Given the description of an element on the screen output the (x, y) to click on. 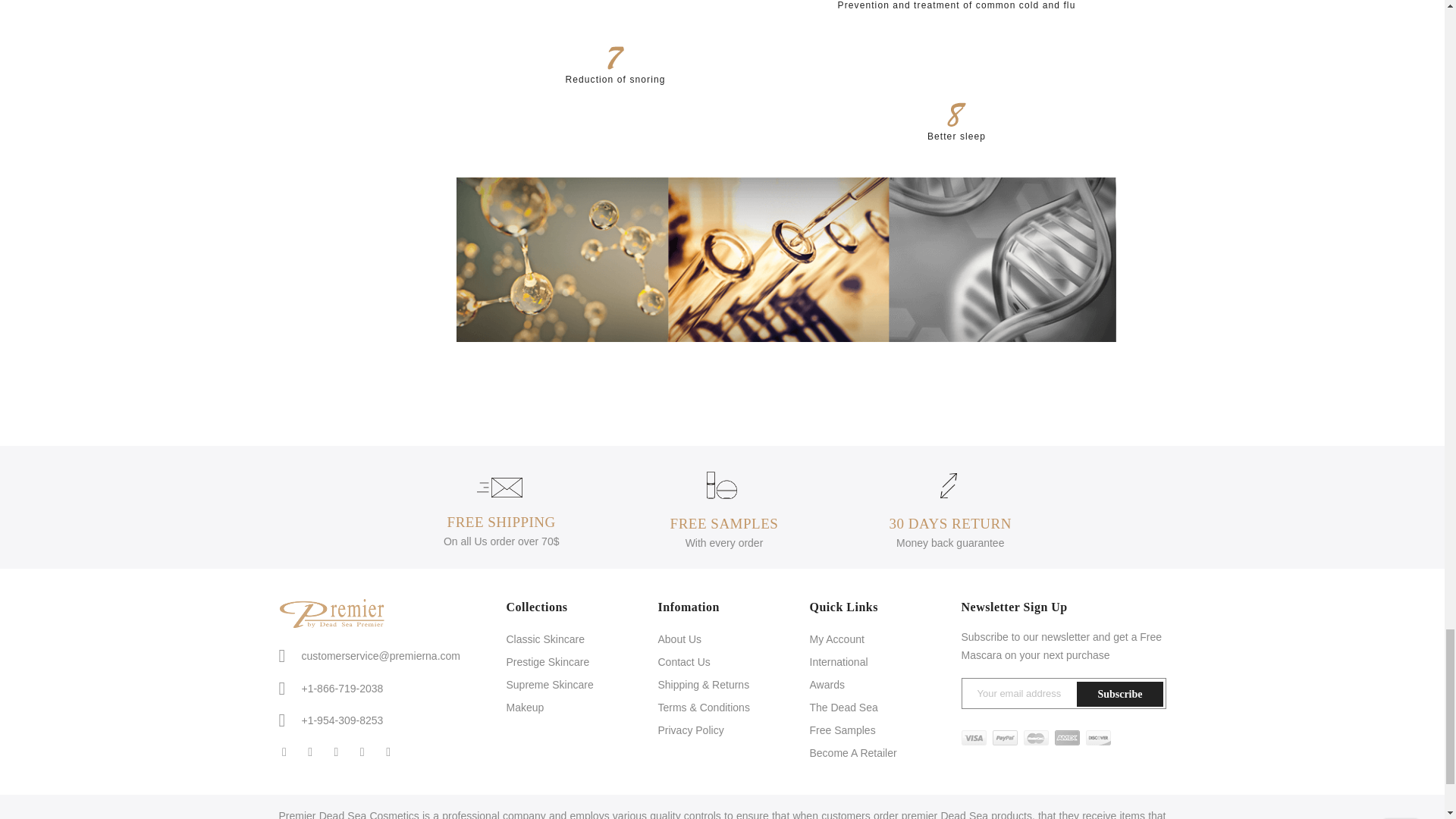
Subscribe (1119, 693)
